Given the description of an element on the screen output the (x, y) to click on. 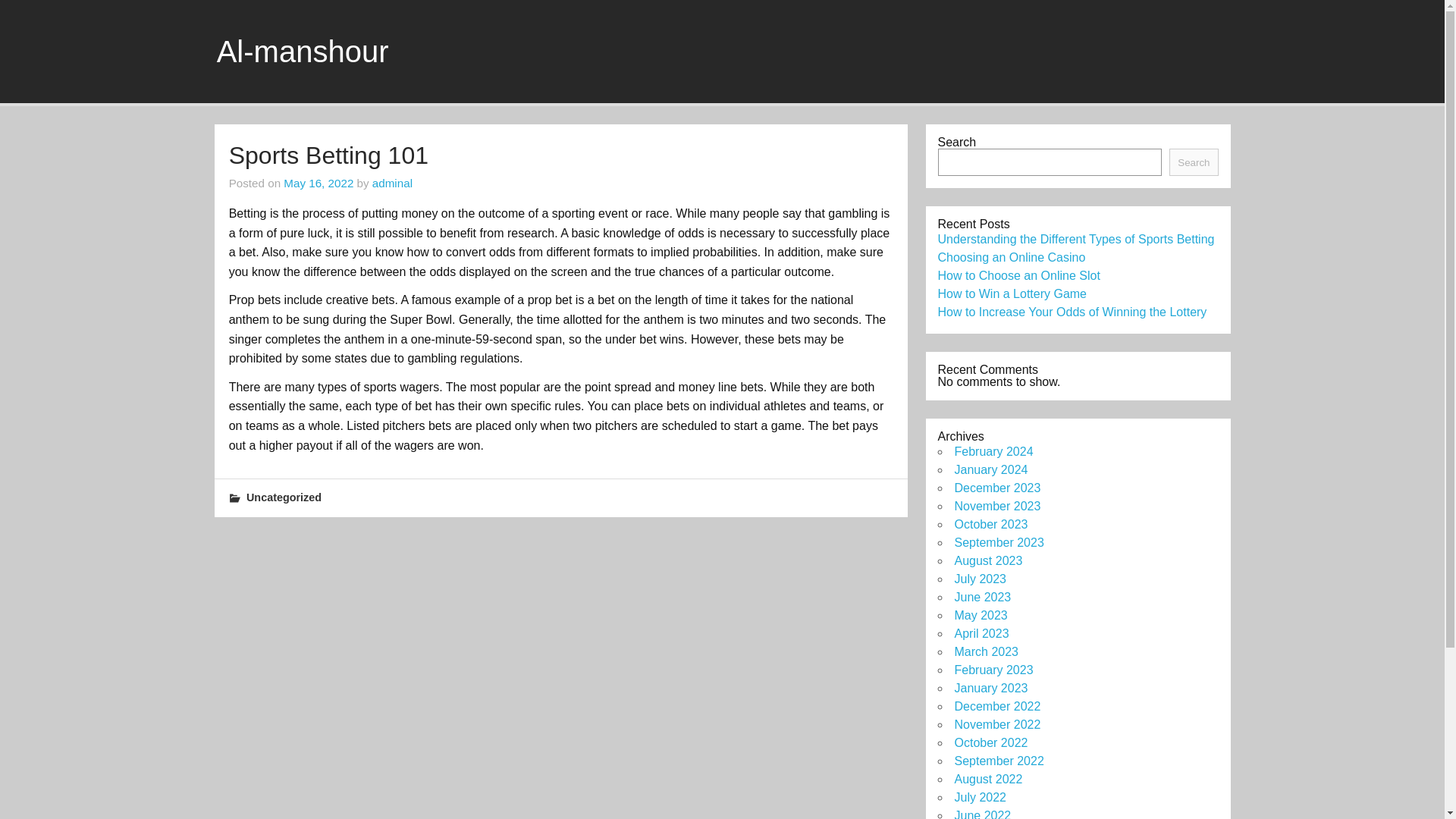
Al-manshour (302, 51)
May 2023 (980, 615)
November 2023 (997, 505)
11:09 pm (318, 182)
July 2022 (979, 797)
July 2023 (979, 578)
June 2022 (981, 814)
January 2023 (990, 687)
September 2022 (998, 760)
Choosing an Online Casino (1010, 256)
